Given the description of an element on the screen output the (x, y) to click on. 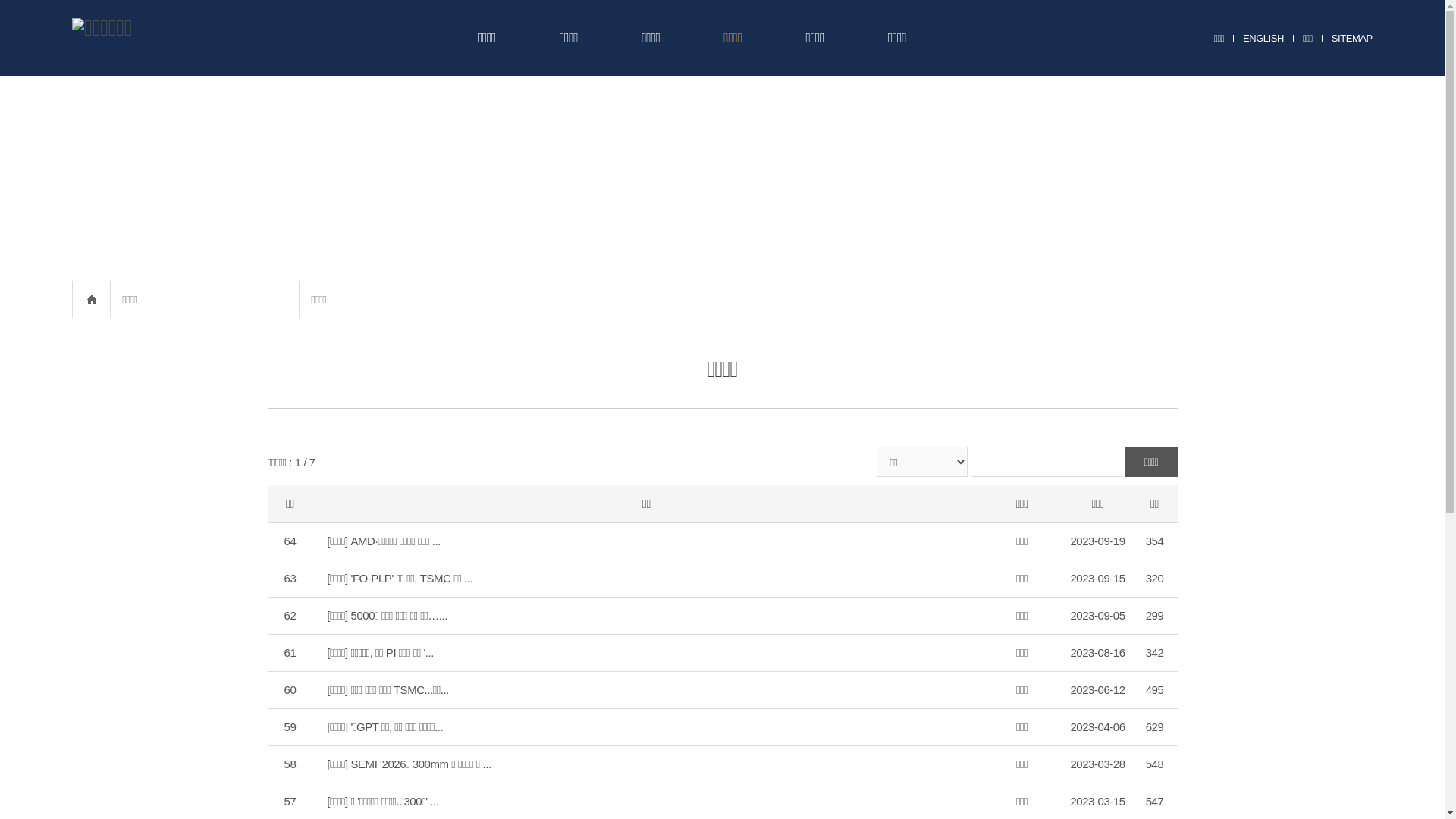
SITEMAP Element type: text (1351, 38)
ENGLISH Element type: text (1262, 38)
HOME Element type: text (90, 298)
